Given the description of an element on the screen output the (x, y) to click on. 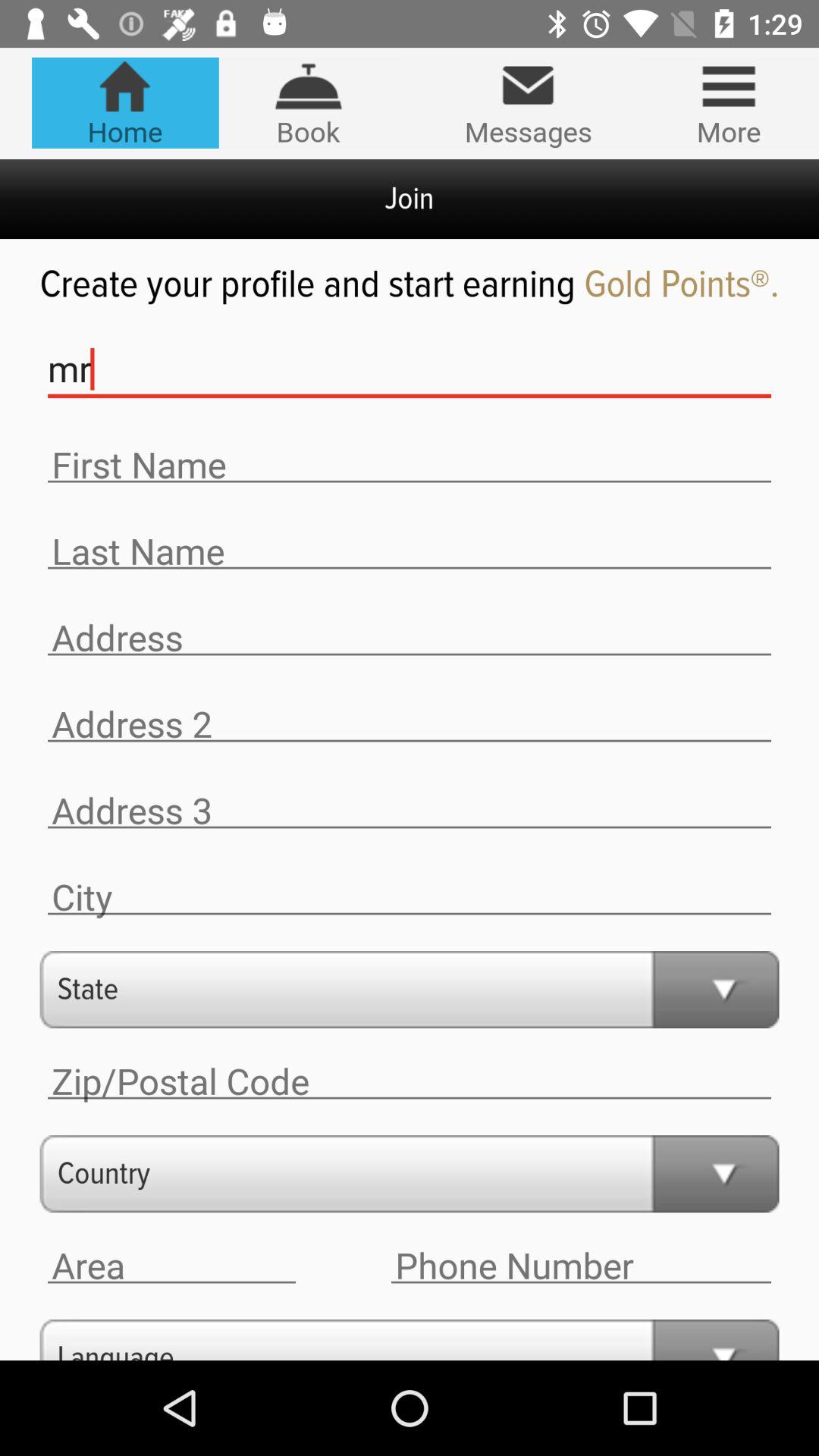
address input box (409, 638)
